Given the description of an element on the screen output the (x, y) to click on. 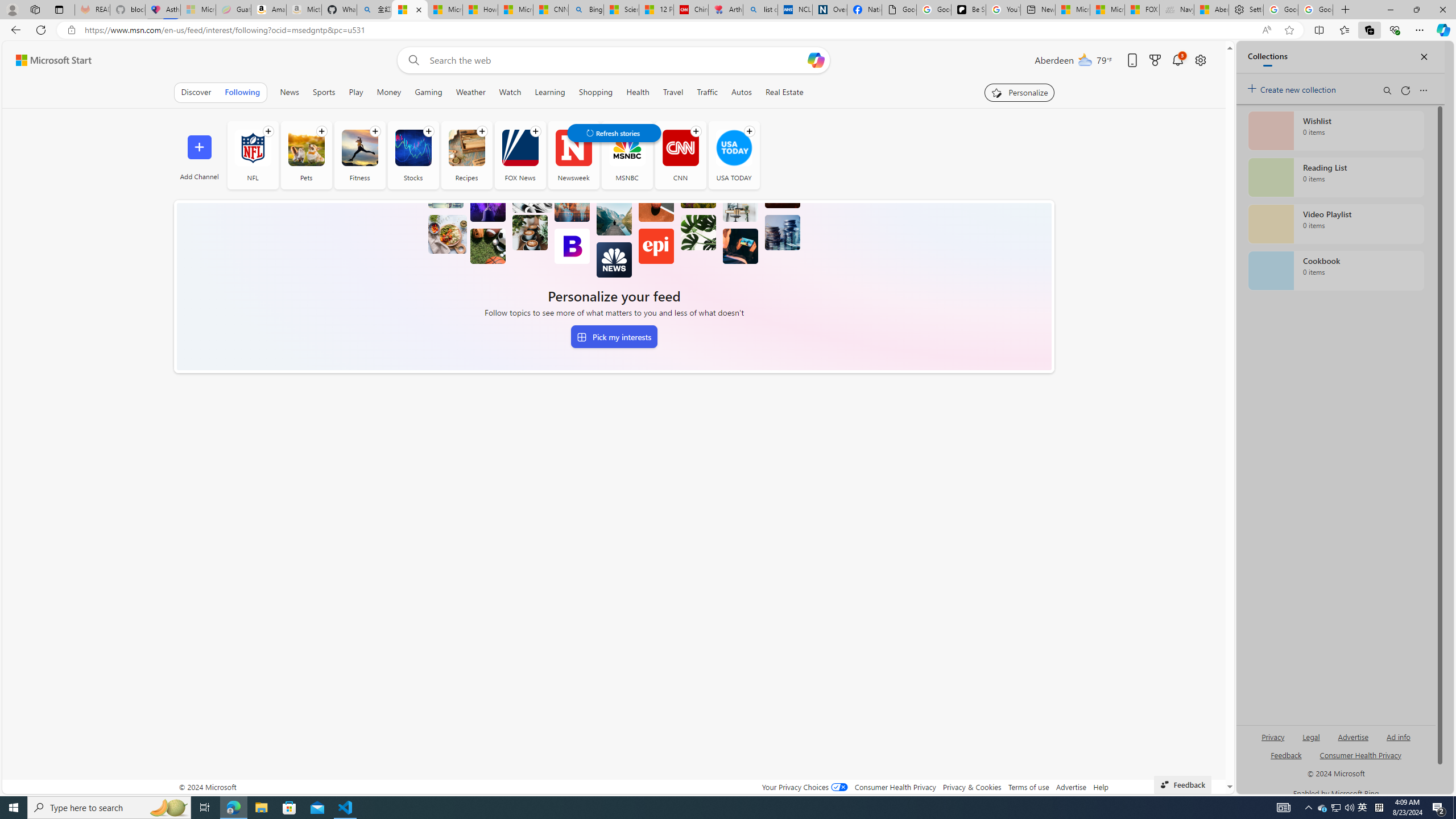
Fitness (359, 147)
MSNBC (626, 147)
Personal Profile (12, 9)
Address and search bar (669, 29)
Notifications (1177, 60)
CNN - MSN (550, 9)
12 Popular Science Lies that Must be Corrected (656, 9)
Pets (306, 155)
Gaming (428, 92)
Microsoft Start (1106, 9)
Watch (510, 92)
FOX News - MSN (1141, 9)
Microsoft Start (53, 60)
